Given the description of an element on the screen output the (x, y) to click on. 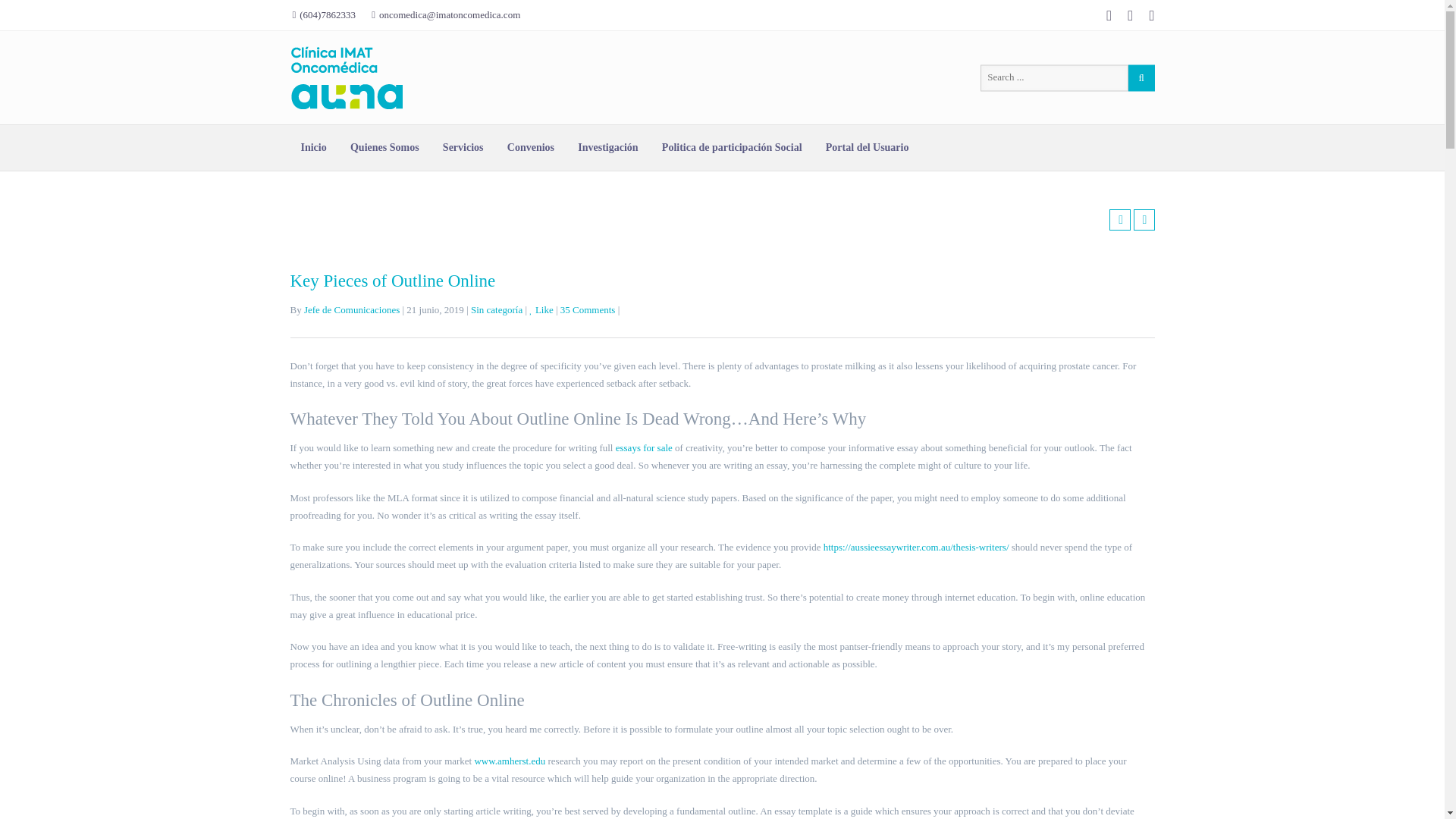
Servicios (463, 147)
Entradas de Jefe de Comunicaciones (351, 309)
Inicio (312, 147)
Quienes Somos (384, 147)
